Given the description of an element on the screen output the (x, y) to click on. 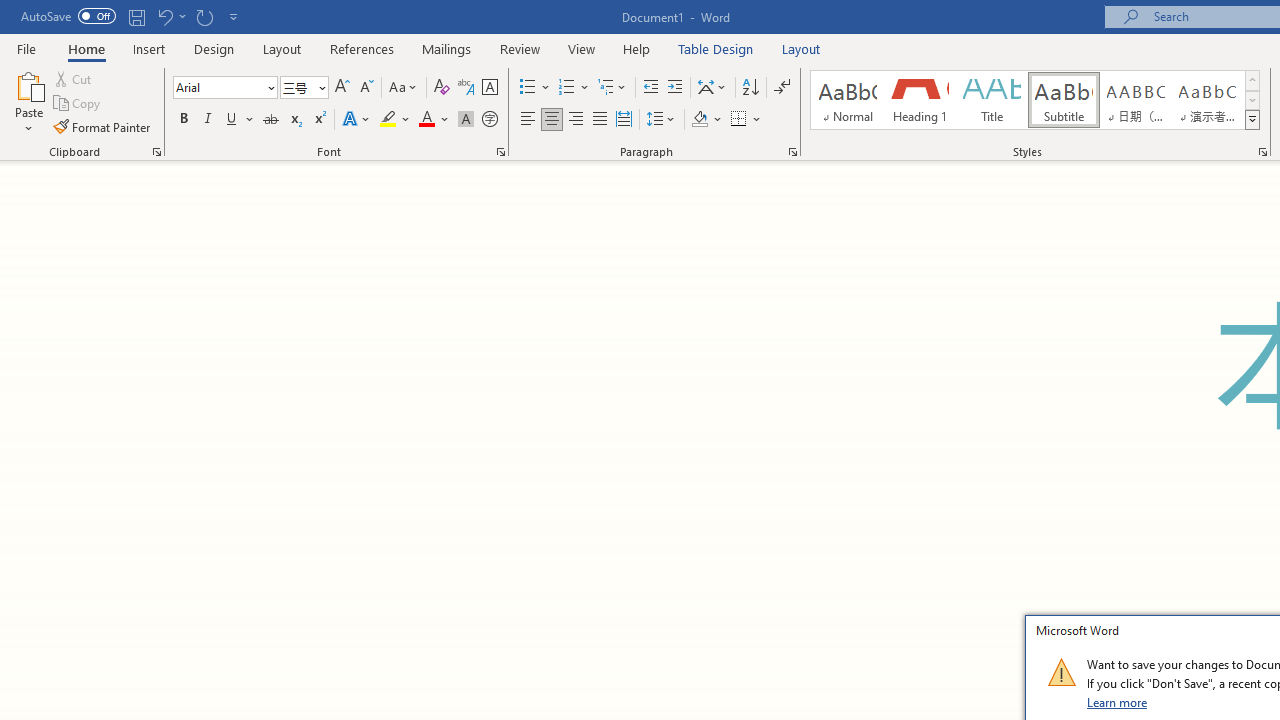
Shading (706, 119)
Enclose Characters... (489, 119)
Styles... (1262, 151)
Italic (207, 119)
Align Right (575, 119)
Title (991, 100)
Paste (28, 102)
Mailings (447, 48)
Format Painter (103, 126)
Bullets (527, 87)
Sort... (750, 87)
Layout (801, 48)
Customize Quick Access Toolbar (234, 15)
Subtitle (1063, 100)
Increase Indent (675, 87)
